Given the description of an element on the screen output the (x, y) to click on. 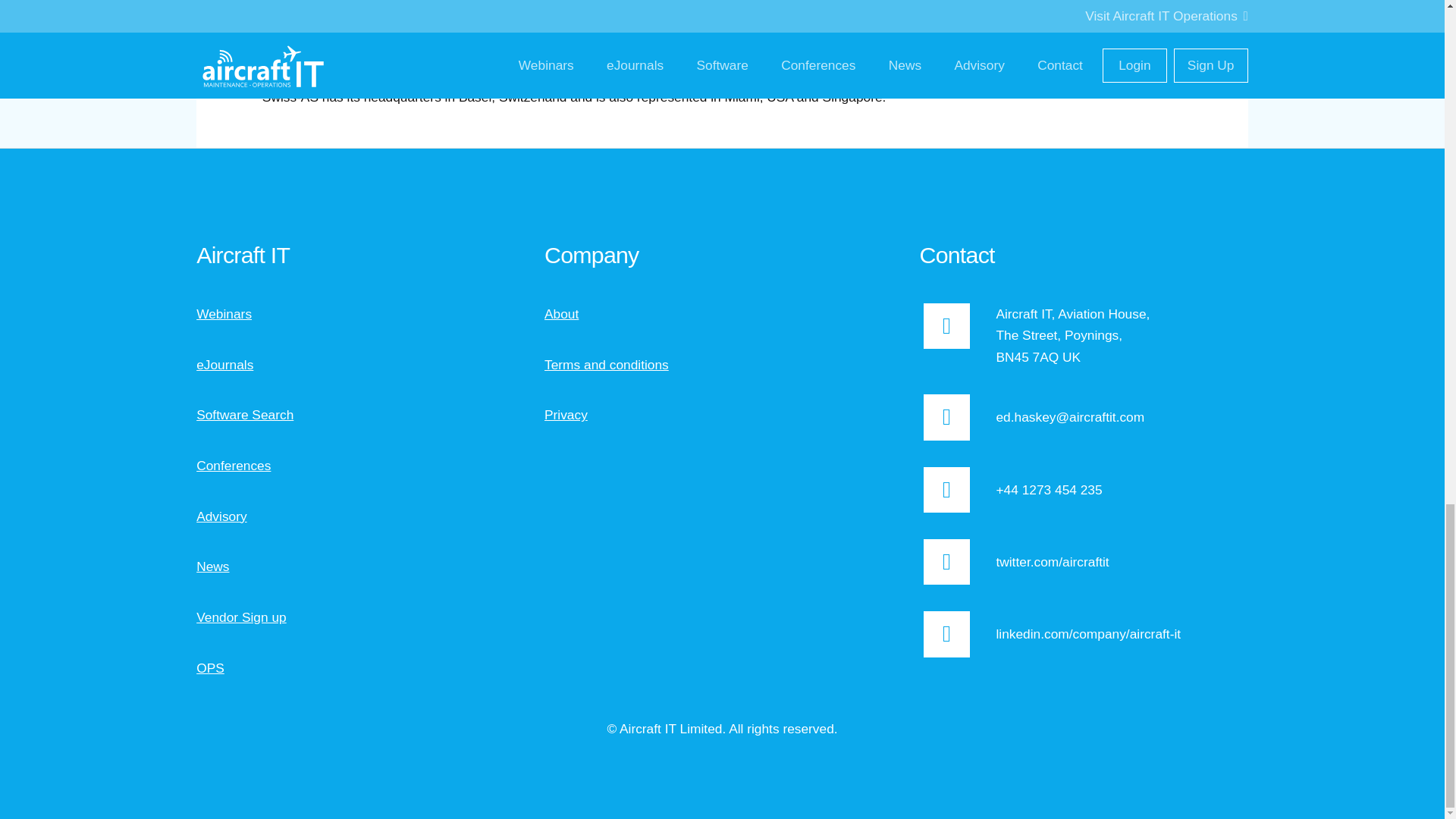
Terms and conditions (606, 364)
About (561, 313)
News (212, 566)
Software Search (245, 414)
Advisory (221, 516)
eJournals (224, 364)
Vendor Sign up (241, 616)
Privacy (566, 414)
OPS (210, 667)
Webinars (223, 313)
Conferences (233, 465)
